Given the description of an element on the screen output the (x, y) to click on. 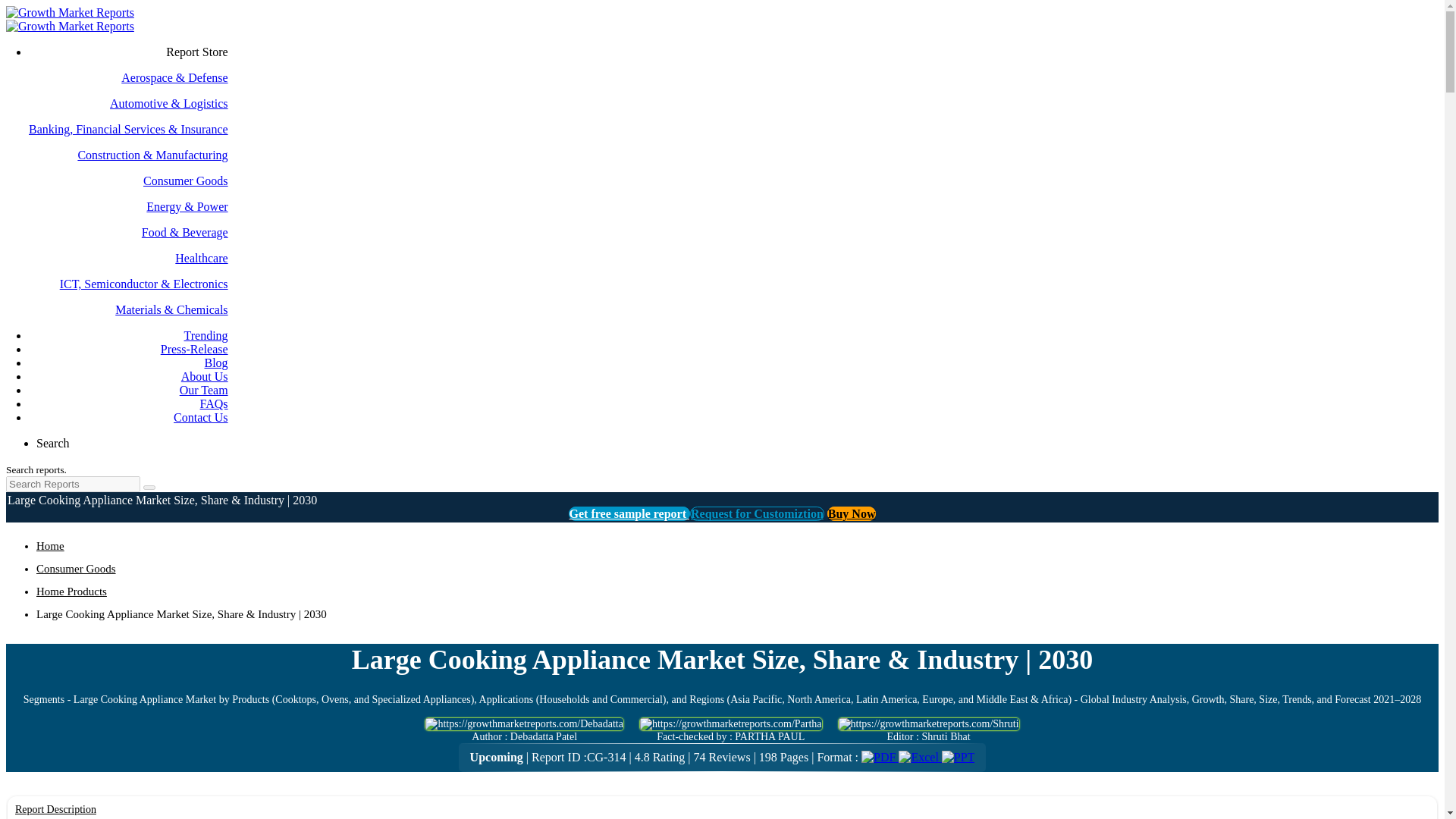
Get free sample report (629, 513)
About Us (204, 376)
Trending (205, 335)
Our Team (203, 390)
Healthcare (128, 258)
Consumer Goods (76, 568)
Consumer Goods (128, 181)
FAQs (214, 403)
Report Store (196, 51)
Request for Customiztion (757, 513)
